Given the description of an element on the screen output the (x, y) to click on. 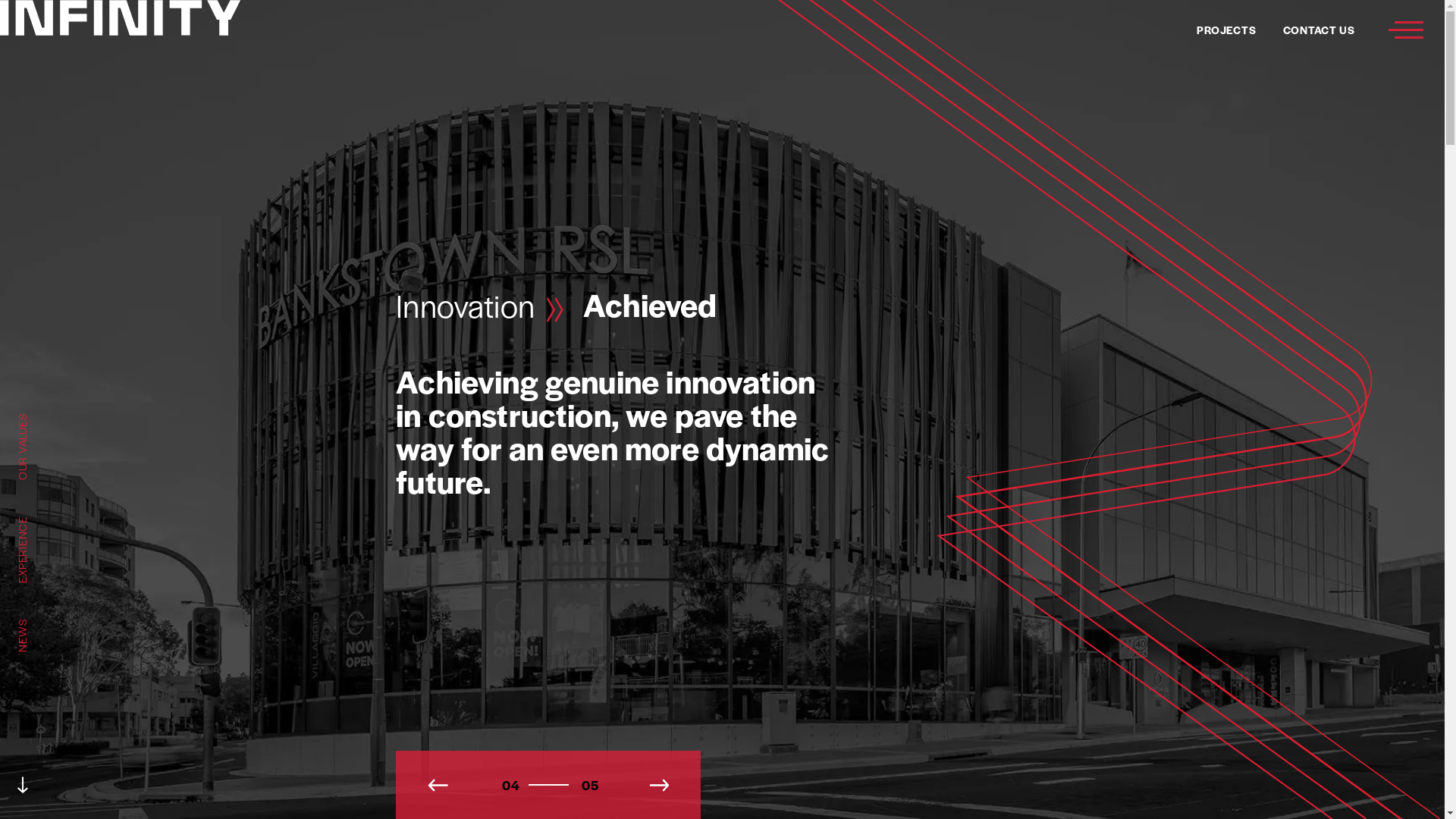
NEWS Element type: text (36, 621)
EXPERIENCE Element type: text (53, 518)
CONTACT US Element type: text (1318, 29)
OUR VALUES Element type: text (53, 415)
PROJECTS Element type: text (1225, 29)
